Given the description of an element on the screen output the (x, y) to click on. 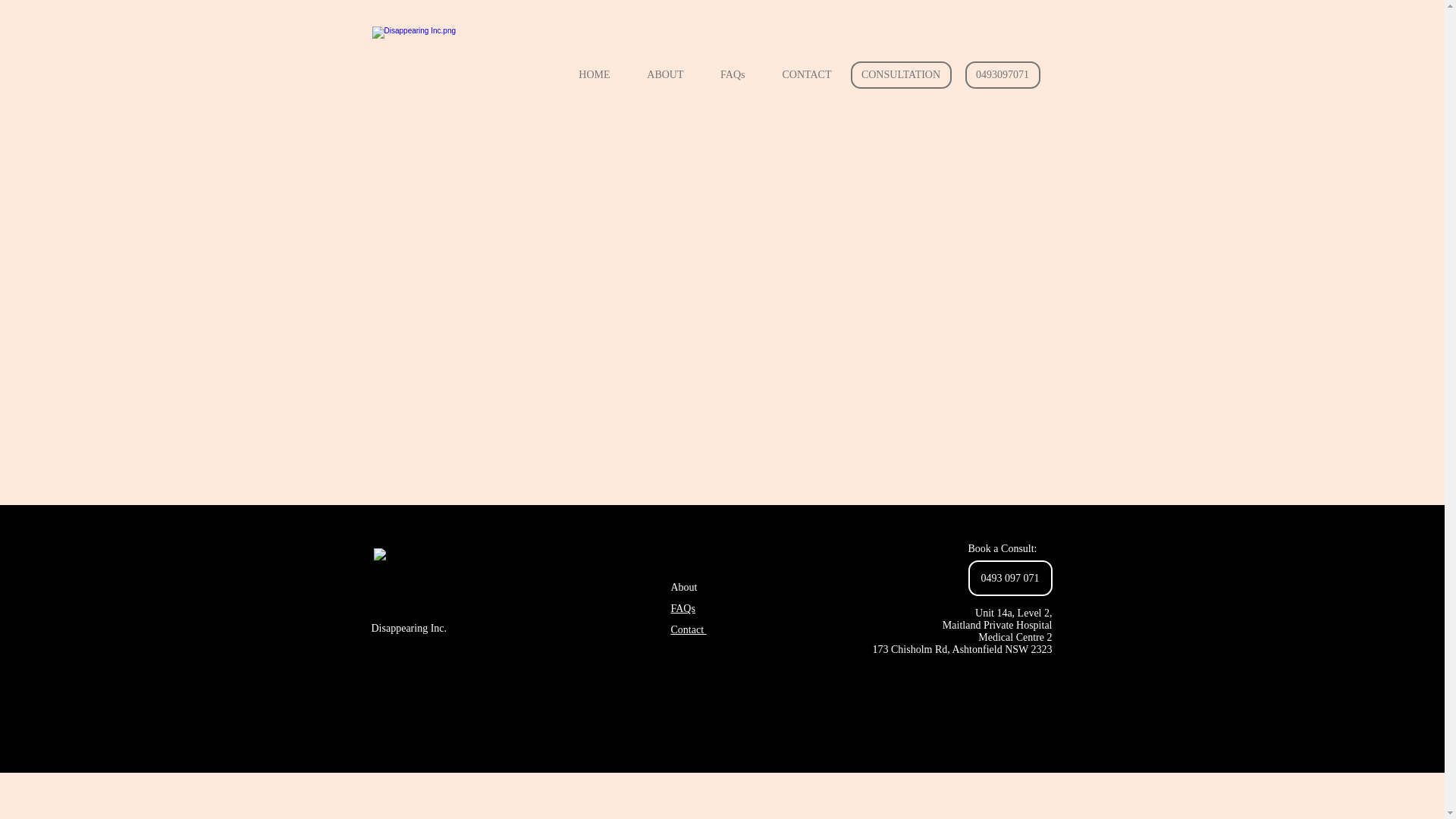
About Element type: text (683, 587)
FAQs Element type: text (682, 608)
ABOUT Element type: text (658, 74)
CONSULTATION Element type: text (900, 74)
0493097071 Element type: text (1001, 74)
FAQs Element type: text (725, 74)
CONTACT Element type: text (799, 74)
0493 097 071 Element type: text (1009, 578)
HOME Element type: text (586, 74)
Contact  Element type: text (688, 629)
